Given the description of an element on the screen output the (x, y) to click on. 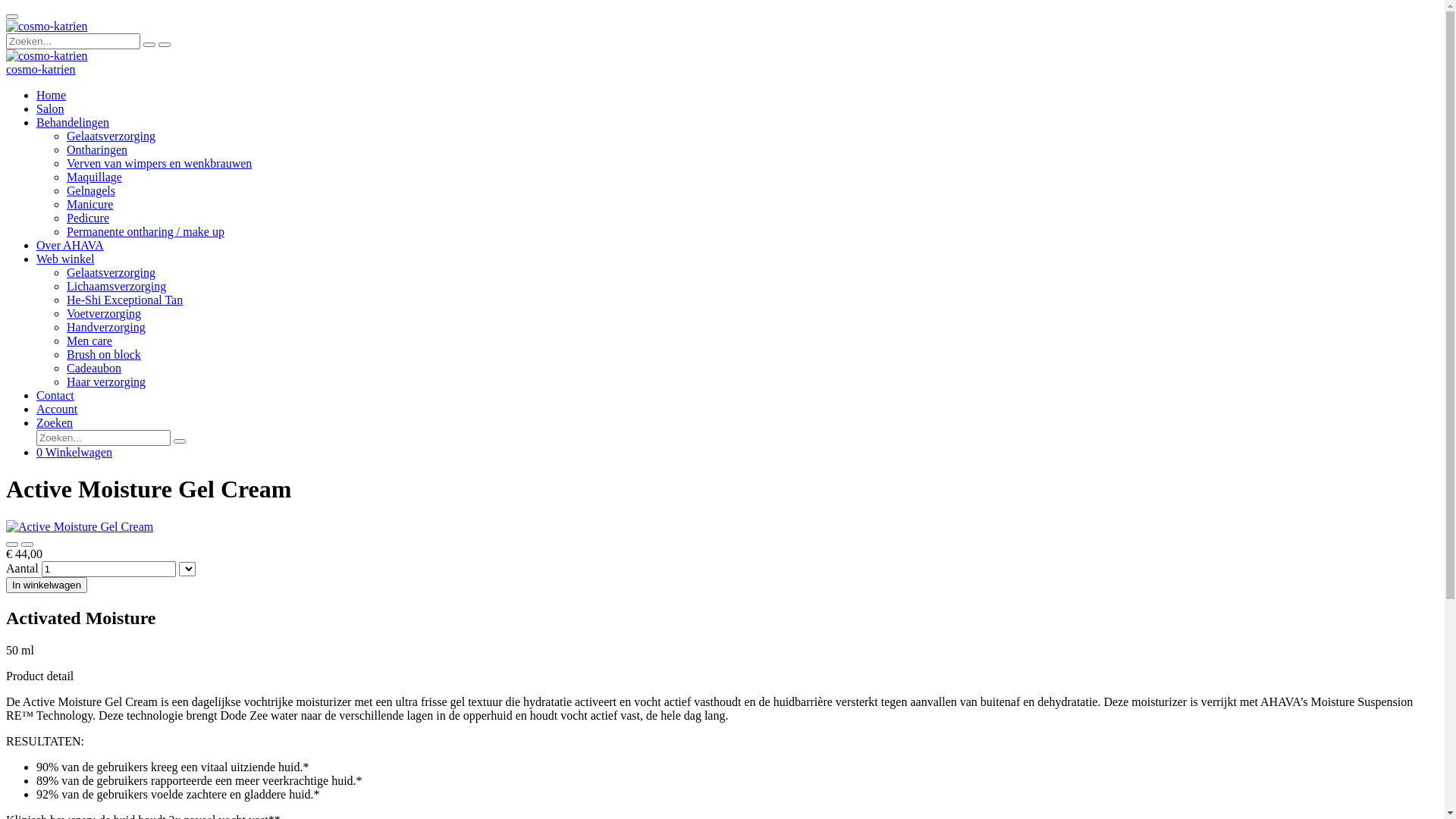
0 Winkelwagen Element type: text (74, 451)
He-Shi Exceptional Tan Element type: text (124, 299)
Haar verzorging Element type: text (105, 381)
Brush on block Element type: text (103, 354)
Over AHAVA Element type: text (69, 244)
cosmo-katrien Element type: hover (46, 55)
Salon Element type: text (49, 108)
Voetverzorging Element type: text (103, 313)
Gelaatsverzorging Element type: text (110, 272)
In winkelwagen Element type: text (46, 585)
Verven van wimpers en wenkbrauwen Element type: text (158, 162)
Handverzorging Element type: text (105, 326)
Contact Element type: text (55, 395)
Pedicure Element type: text (87, 217)
Permanente ontharing / make up Element type: text (145, 231)
Behandelingen Element type: text (72, 122)
Account Element type: text (56, 408)
Lichaamsverzorging Element type: text (116, 285)
Gelnagels Element type: text (90, 190)
Men care Element type: text (89, 340)
Manicure Element type: text (89, 203)
Home Element type: text (50, 94)
Web winkel Element type: text (65, 258)
Zoeken Element type: text (54, 422)
Ontharingen Element type: text (96, 149)
cosmo-katrien Element type: hover (46, 26)
cosmo-katrien Element type: text (40, 68)
Gelaatsverzorging Element type: text (110, 135)
Cadeaubon Element type: text (93, 367)
Maquillage Element type: text (94, 176)
